Given the description of an element on the screen output the (x, y) to click on. 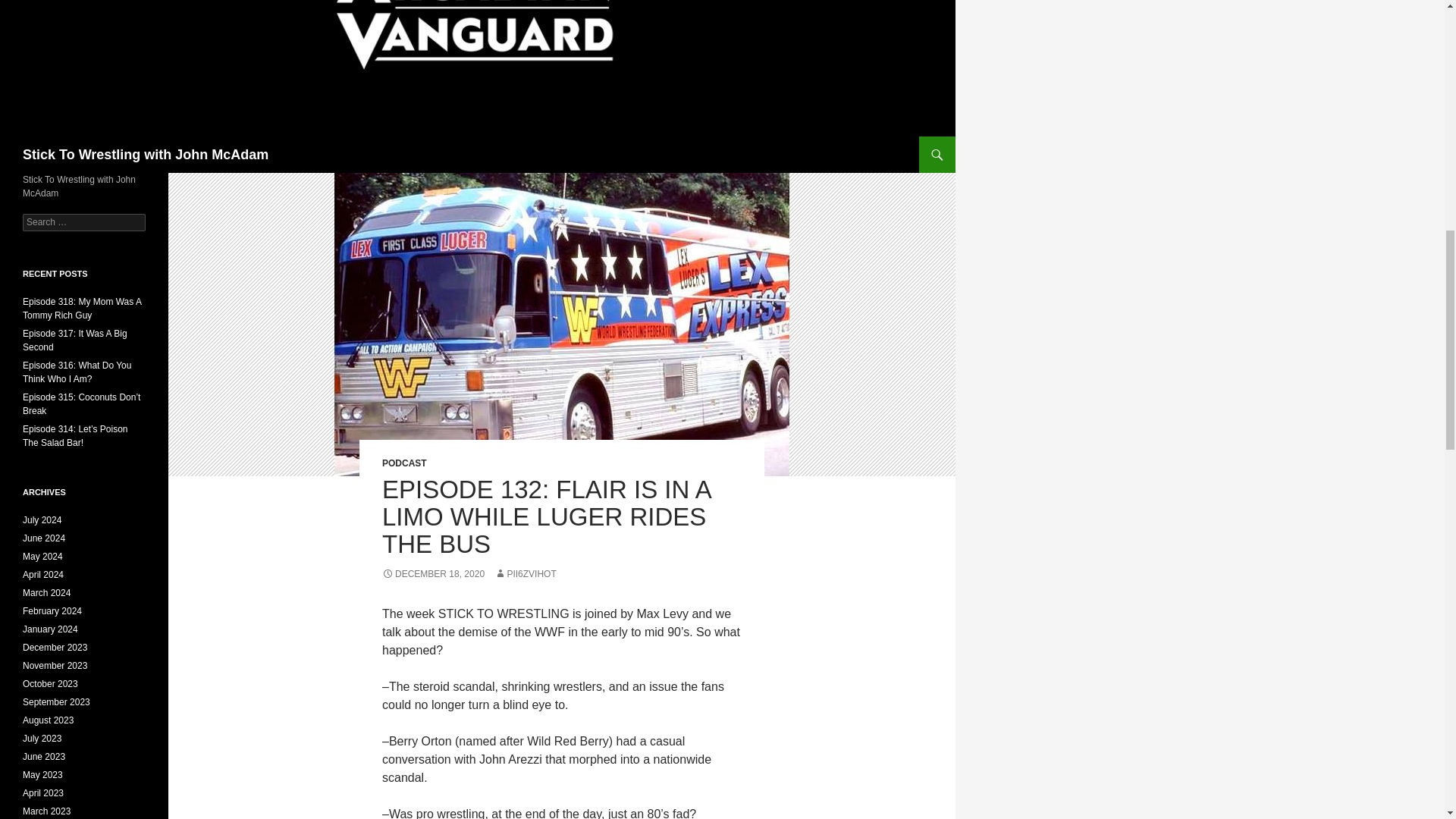
PII6ZVIHOT (525, 573)
Episode 318: My Mom Was A Tommy Rich Guy (82, 308)
Stick To Wrestling with John McAdam (145, 154)
PODCAST (403, 462)
DECEMBER 18, 2020 (432, 573)
May 2024 (42, 556)
June 2024 (44, 538)
Episode 316: What Do You Think Who I Am? (77, 372)
Episode 317: It Was A Big Second (75, 340)
July 2024 (42, 520)
